Given the description of an element on the screen output the (x, y) to click on. 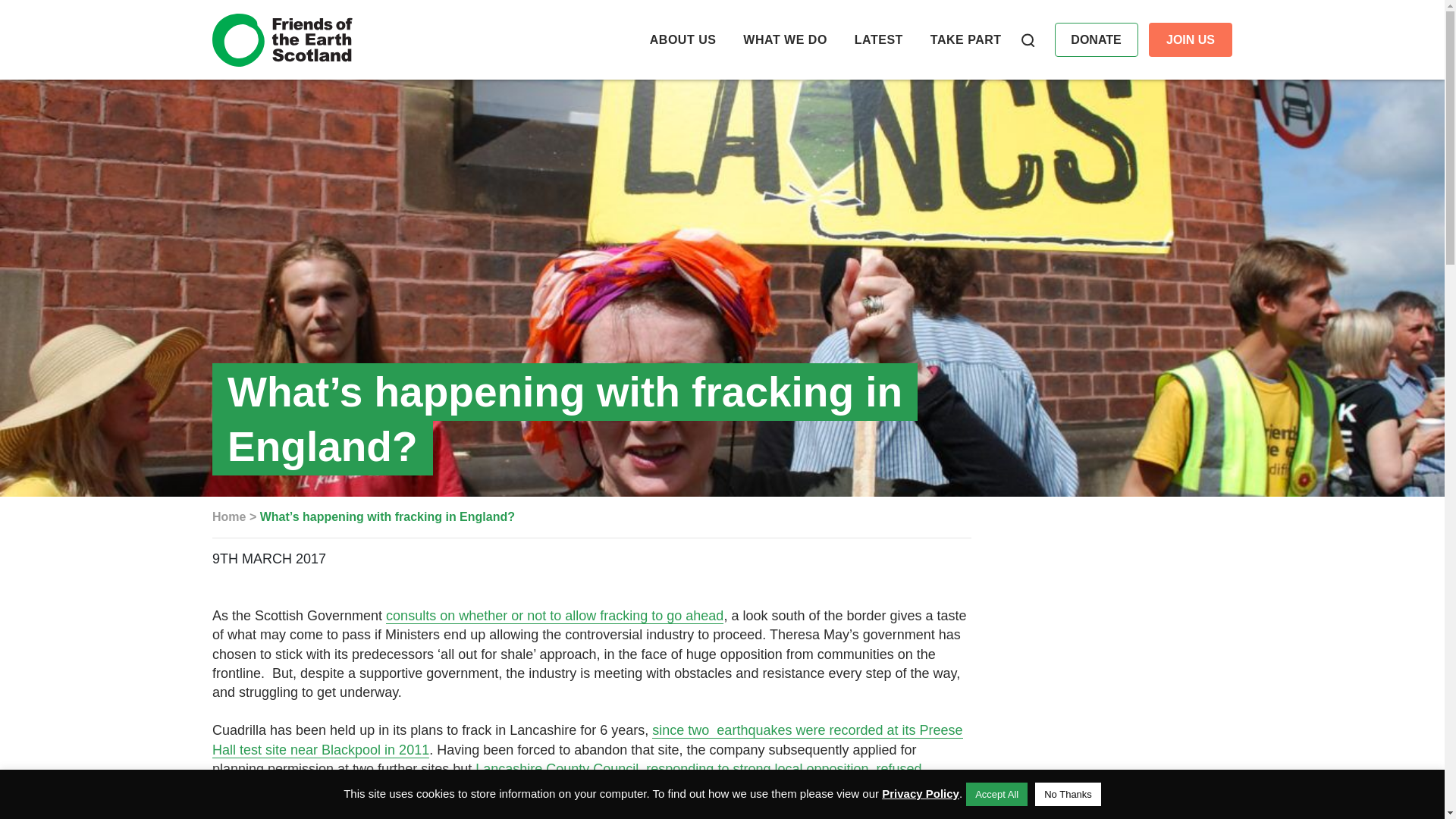
LATEST (878, 39)
ABOUT US (682, 39)
TAKE PART (965, 39)
WHAT WE DO (784, 39)
